Given the description of an element on the screen output the (x, y) to click on. 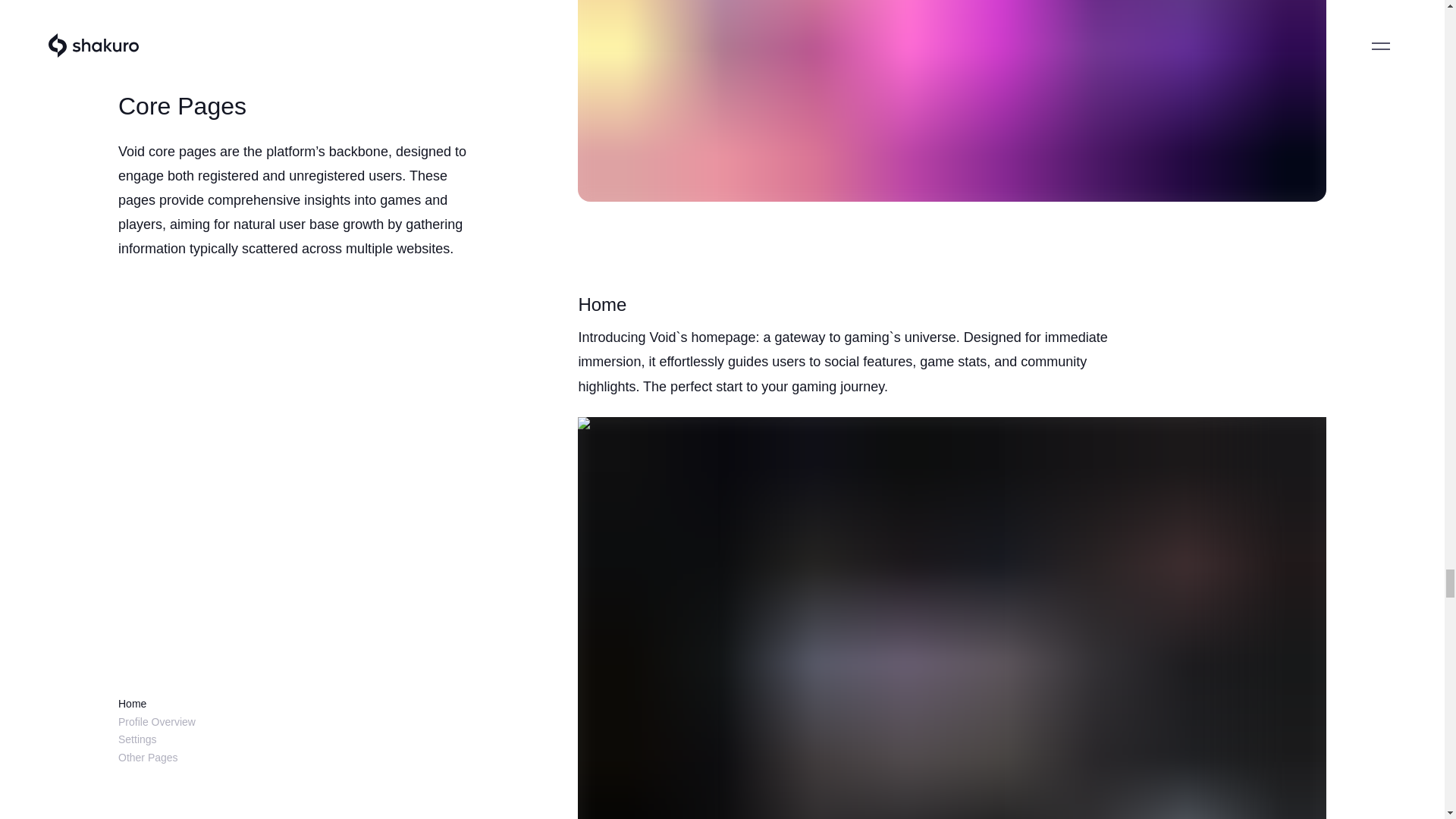
Settings (137, 435)
Home (132, 399)
Profile Overview (156, 418)
Other Pages (147, 453)
